Given the description of an element on the screen output the (x, y) to click on. 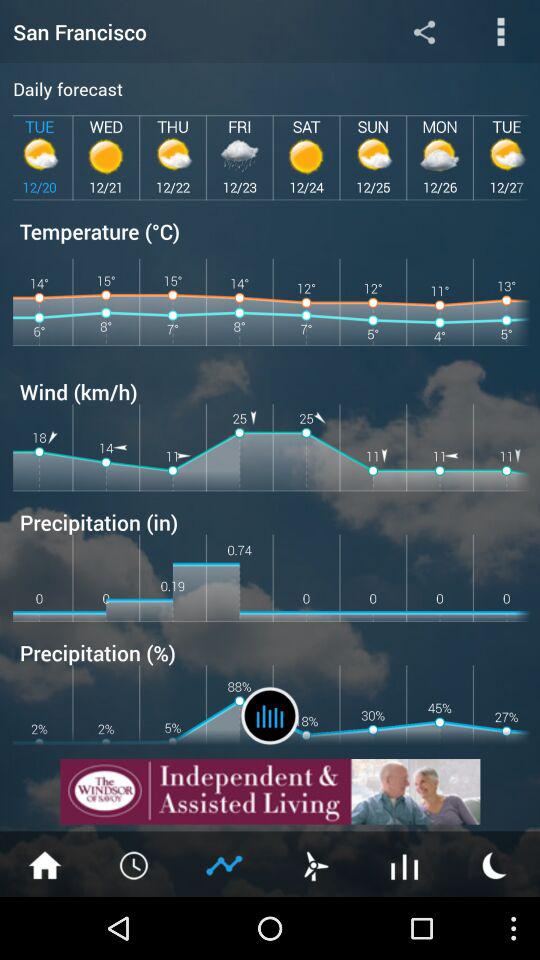
share (424, 31)
